Given the description of an element on the screen output the (x, y) to click on. 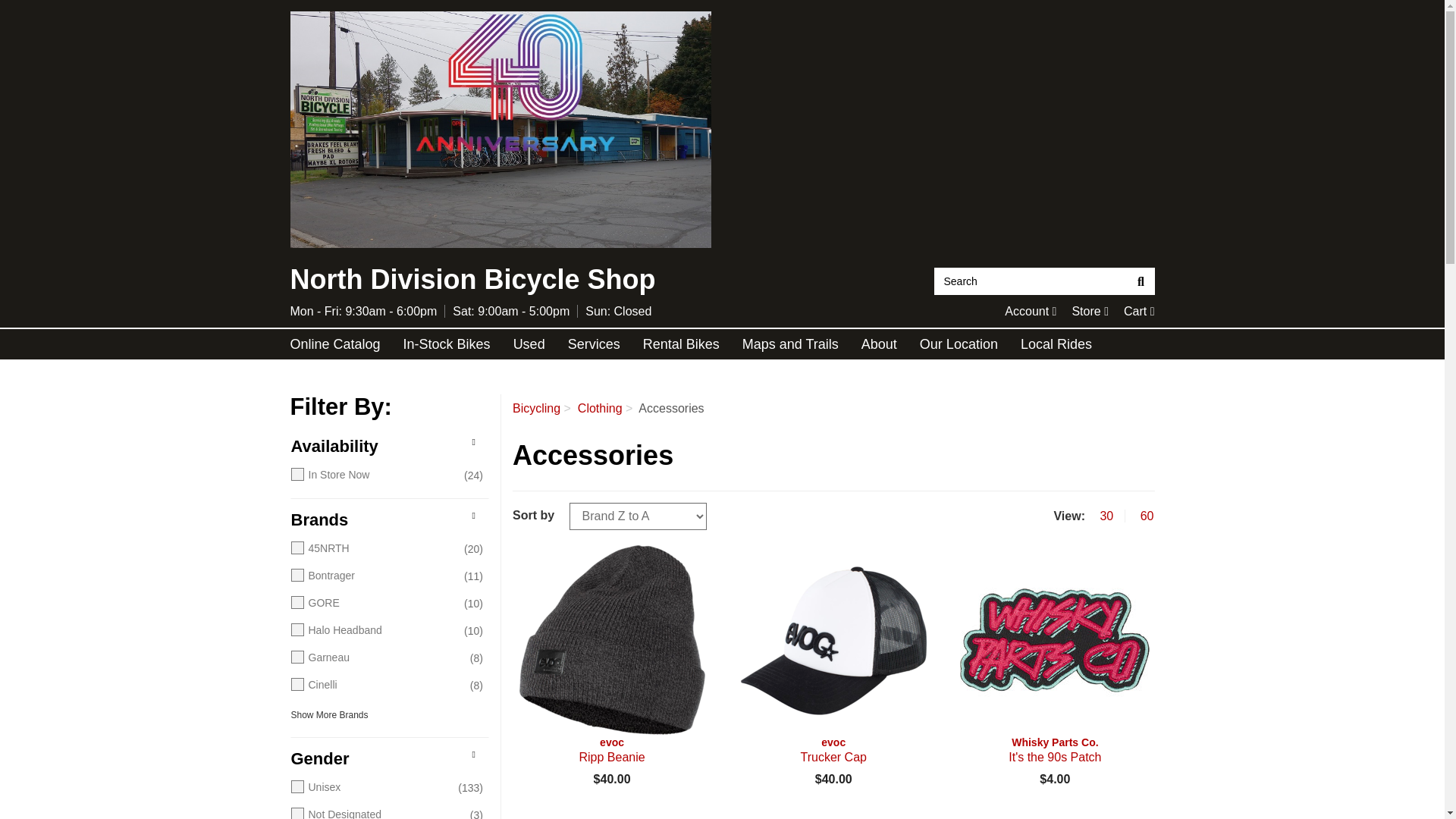
Account (1030, 310)
Cart (1139, 310)
Search (1089, 310)
Search (1031, 280)
North Division Bicycle Shop Home Page (1140, 280)
Online Catalog (499, 129)
Store (335, 344)
